Given the description of an element on the screen output the (x, y) to click on. 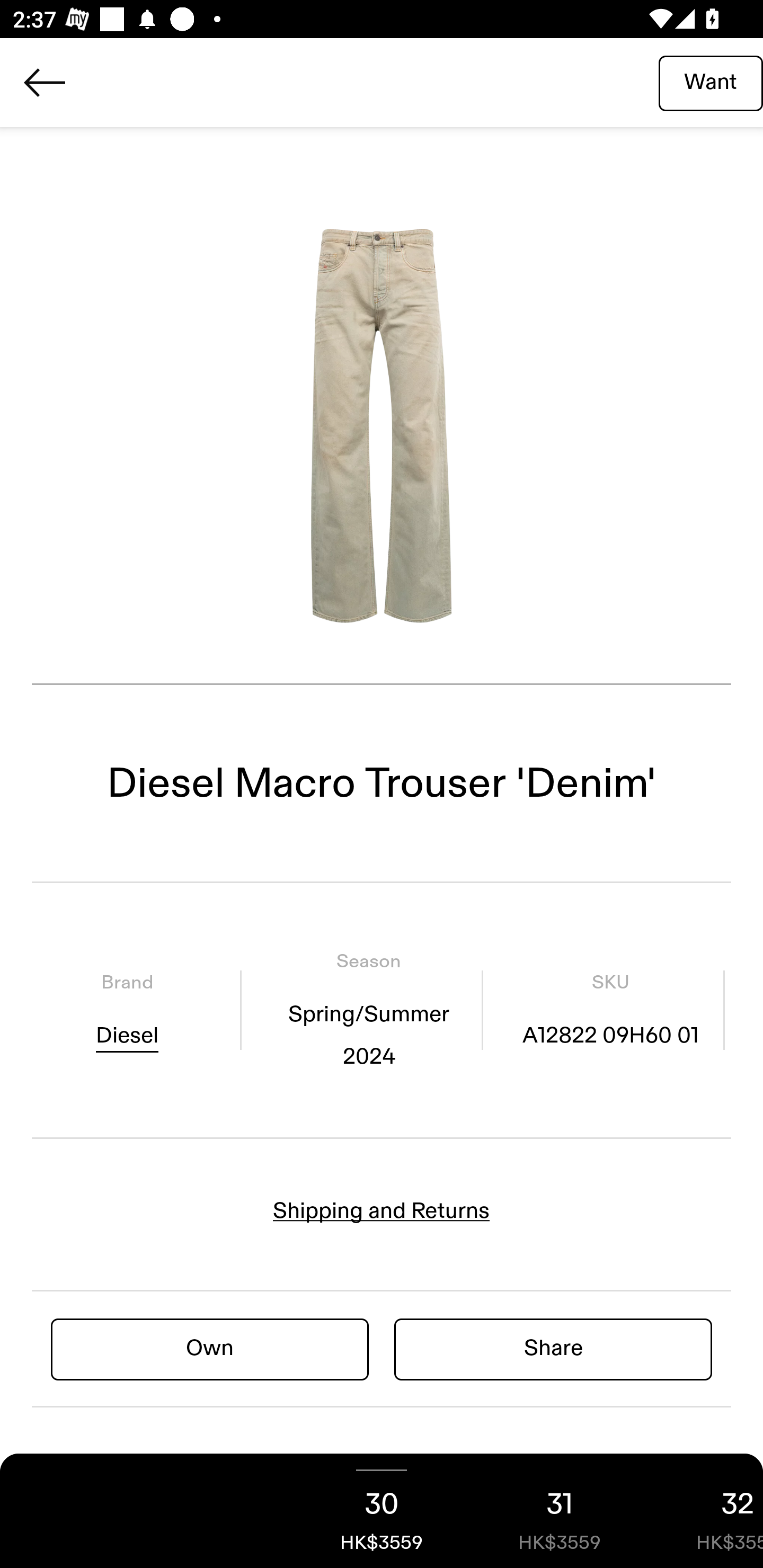
Want (710, 82)
Brand Diesel (126, 1009)
Season Spring/Summer 2024 (368, 1009)
SKU A12822 09H60 01 (609, 1009)
Shipping and Returns (381, 1211)
Own (209, 1348)
Share (552, 1348)
30 HK$3559 (381, 1510)
31 HK$3559 (559, 1510)
32 HK$3559 (705, 1510)
